Given the description of an element on the screen output the (x, y) to click on. 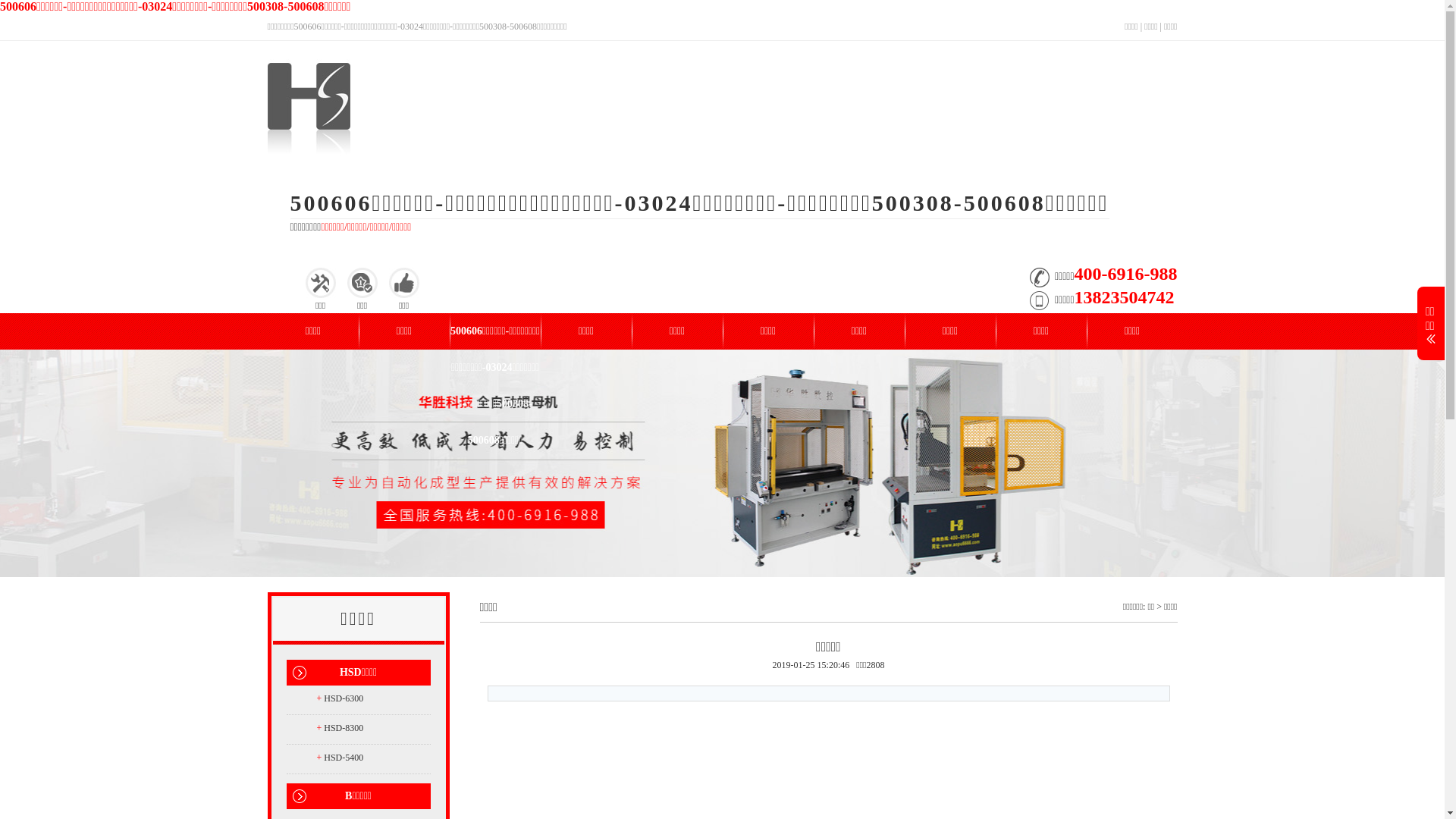
+ HSD-5400 Element type: text (373, 757)
+ HSD-8300 Element type: text (373, 727)
+ HSD-6300 Element type: text (373, 698)
